Given the description of an element on the screen output the (x, y) to click on. 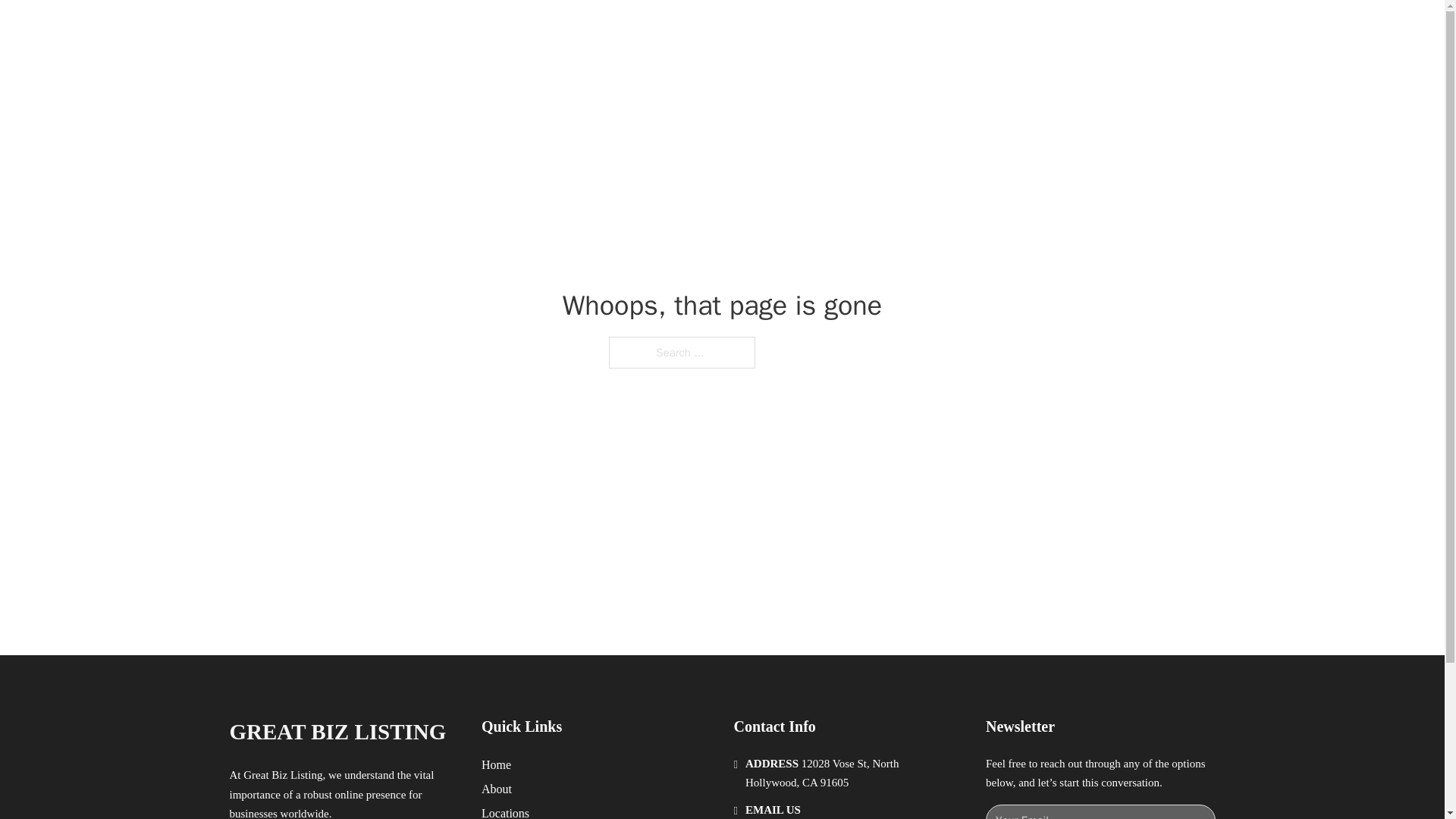
GREAT BIZ LISTING (406, 28)
About (496, 788)
GREAT BIZ LISTING (336, 732)
Locations (505, 811)
Home (496, 764)
